Given the description of an element on the screen output the (x, y) to click on. 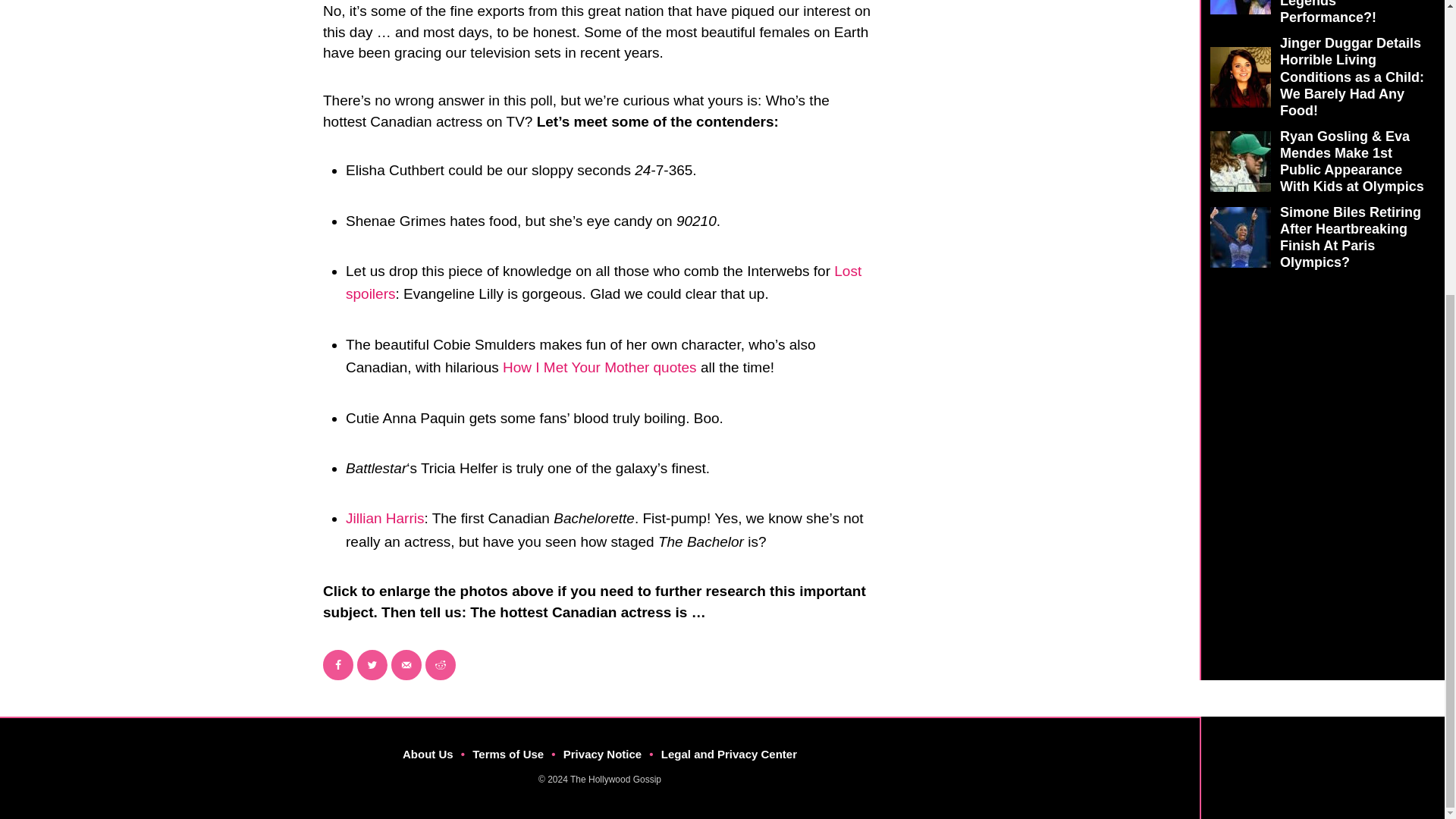
Send over email (406, 665)
Share on Twitter (371, 665)
Share on Reddit (440, 665)
Share on Facebook (338, 665)
